Given the description of an element on the screen output the (x, y) to click on. 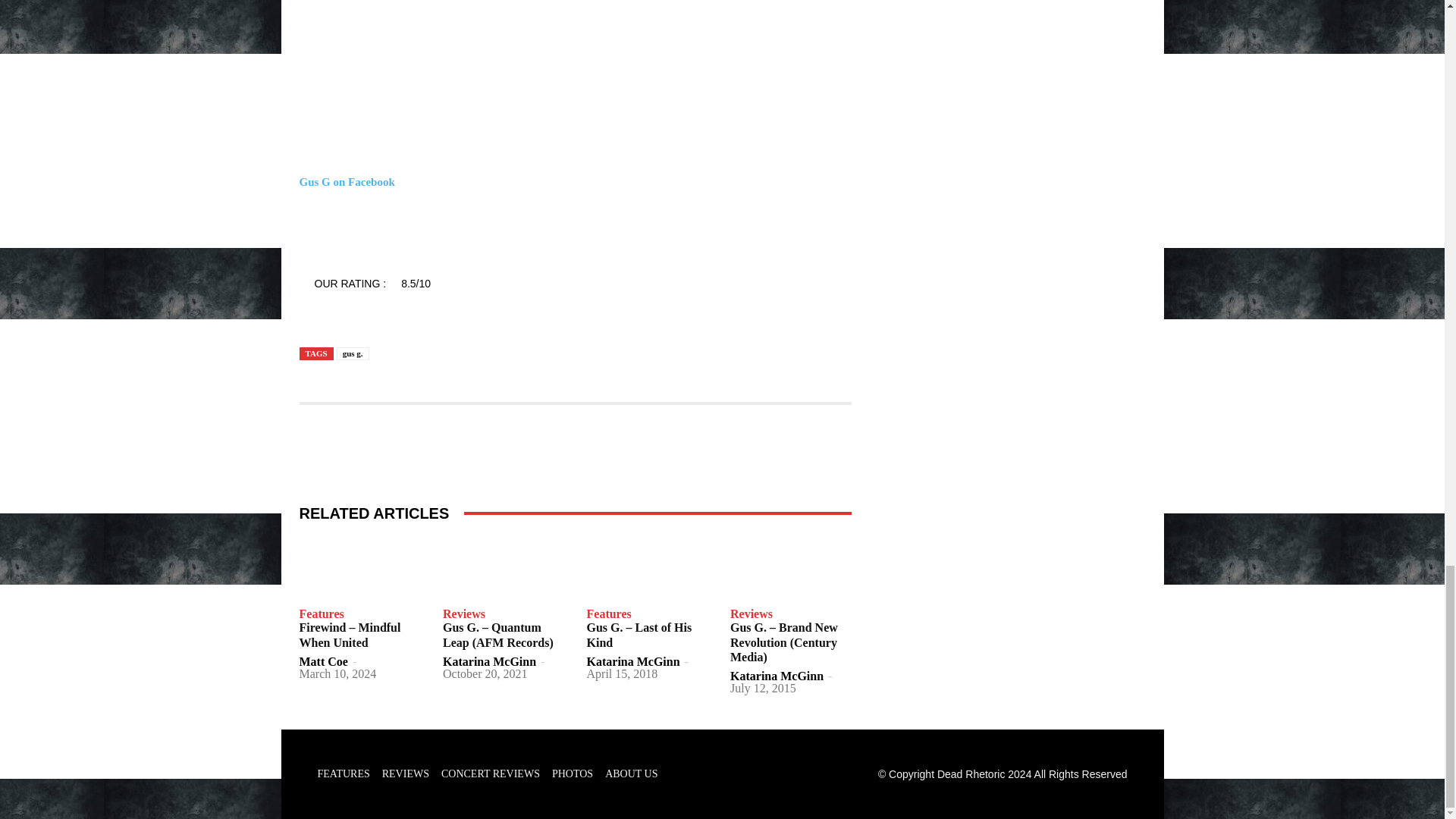
Reviews (463, 613)
Gus G on Facebook (346, 182)
gus g. (352, 353)
Features (320, 613)
Matt Coe (322, 661)
Katarina McGinn (632, 661)
Katarina McGinn (488, 661)
Features (608, 613)
